Given the description of an element on the screen output the (x, y) to click on. 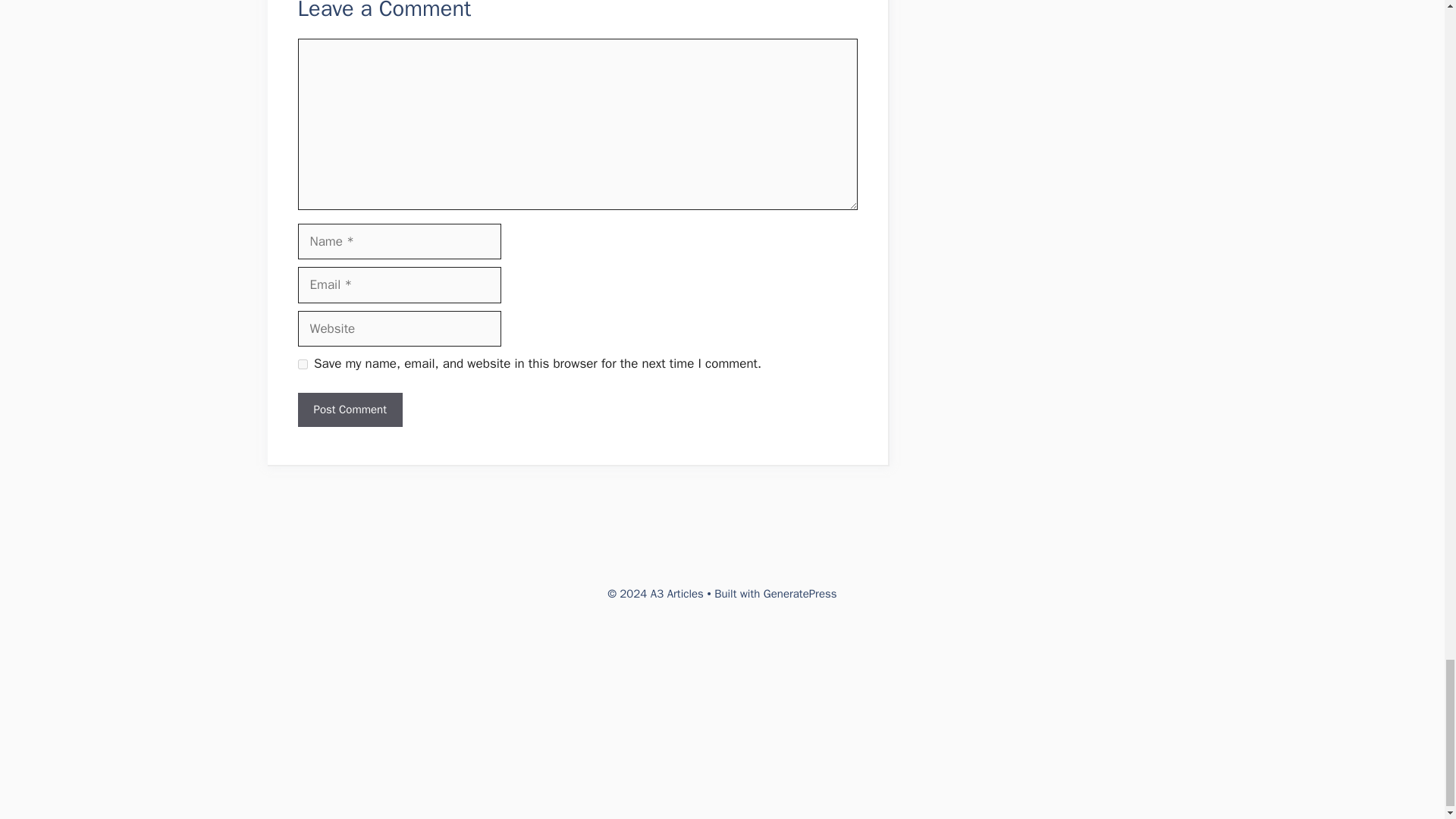
GeneratePress (799, 593)
yes (302, 364)
Post Comment (349, 409)
Post Comment (349, 409)
